Given the description of an element on the screen output the (x, y) to click on. 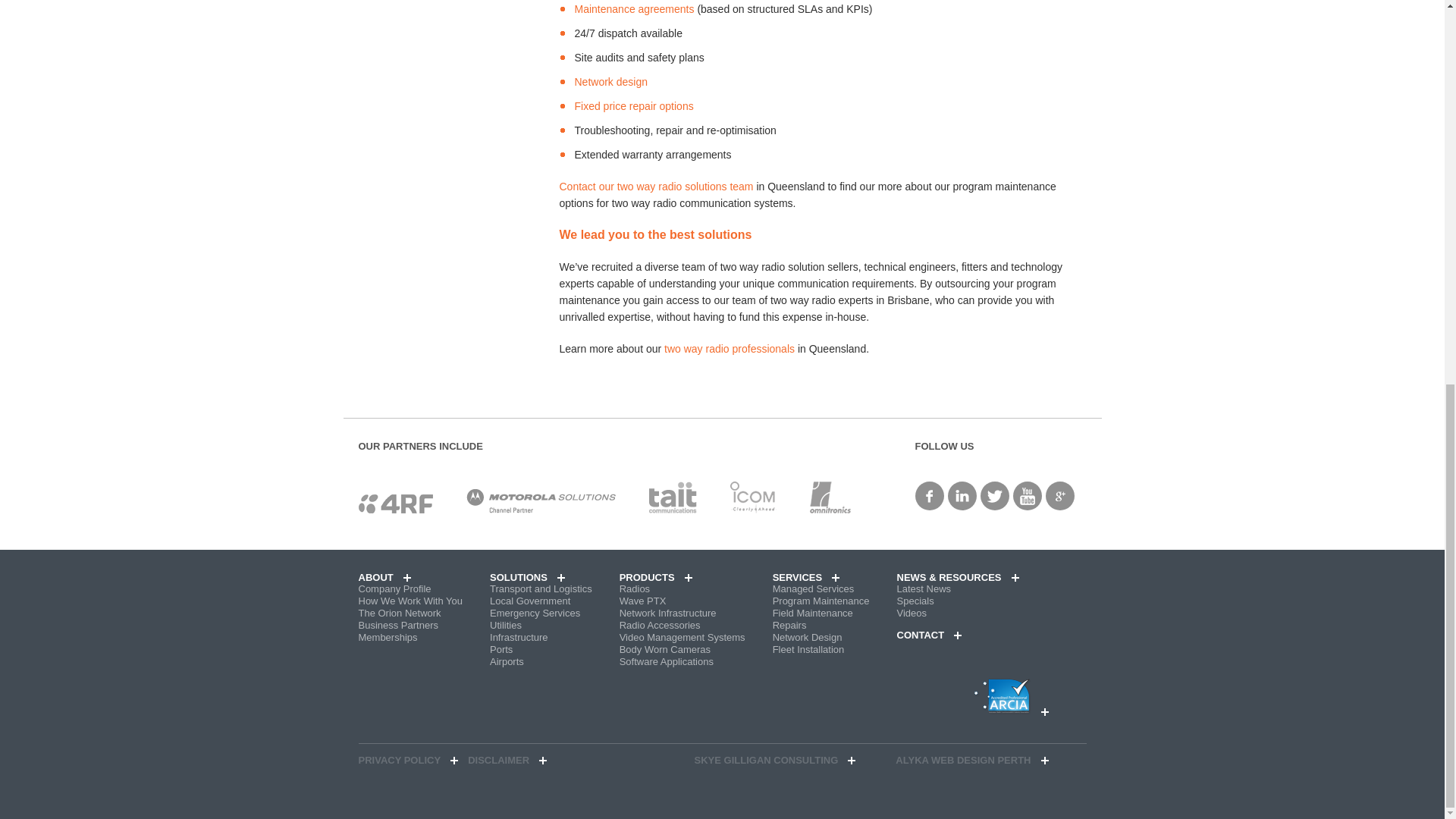
Alyka Web Design Perth (971, 759)
Learn more about our repair services (634, 105)
Skye Gilligan Consulting (775, 759)
Get in touch with us (658, 186)
Read more about our core team (728, 348)
Learn more about our network services (611, 81)
Learn more about our managed services (634, 9)
